Given the description of an element on the screen output the (x, y) to click on. 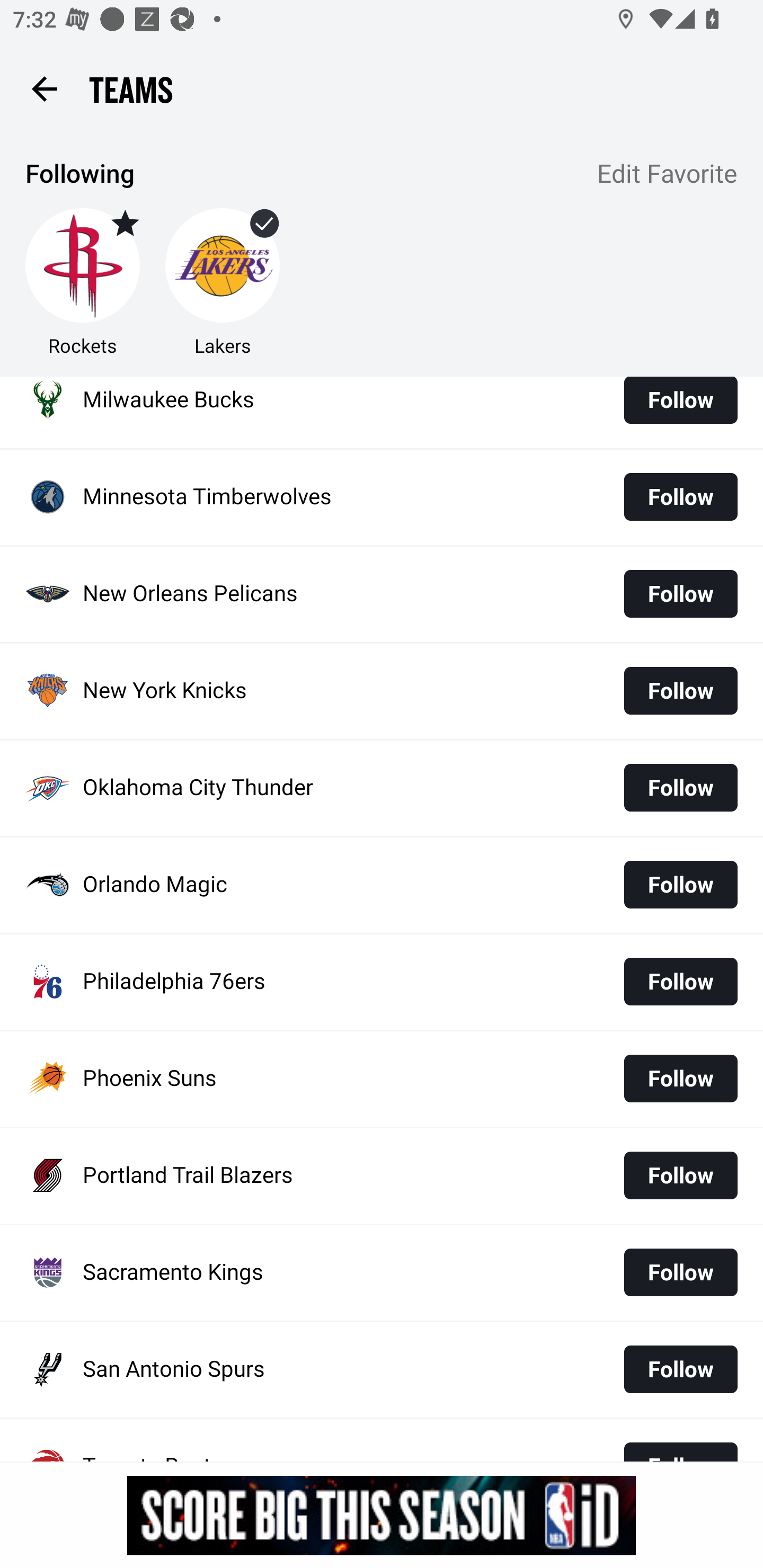
Back button (44, 88)
Edit Favorite (667, 175)
Milwaukee Bucks Follow (381, 412)
Follow (680, 406)
Minnesota Timberwolves Follow (381, 497)
Follow (680, 496)
New Orleans Pelicans Follow (381, 594)
Follow (680, 593)
New York Knicks Follow (381, 690)
Follow (680, 690)
Oklahoma City Thunder Follow (381, 787)
Follow (680, 787)
Orlando Magic Follow (381, 884)
Follow (680, 884)
Philadelphia 76ers Follow (381, 982)
Follow (680, 981)
Phoenix Suns Follow (381, 1079)
Follow (680, 1078)
Portland Trail Blazers Follow (381, 1175)
Follow (680, 1174)
Sacramento Kings Follow (381, 1272)
Follow (680, 1272)
San Antonio Spurs Follow (381, 1369)
Follow (680, 1369)
g5nqqygr7owph (381, 1515)
